Given the description of an element on the screen output the (x, y) to click on. 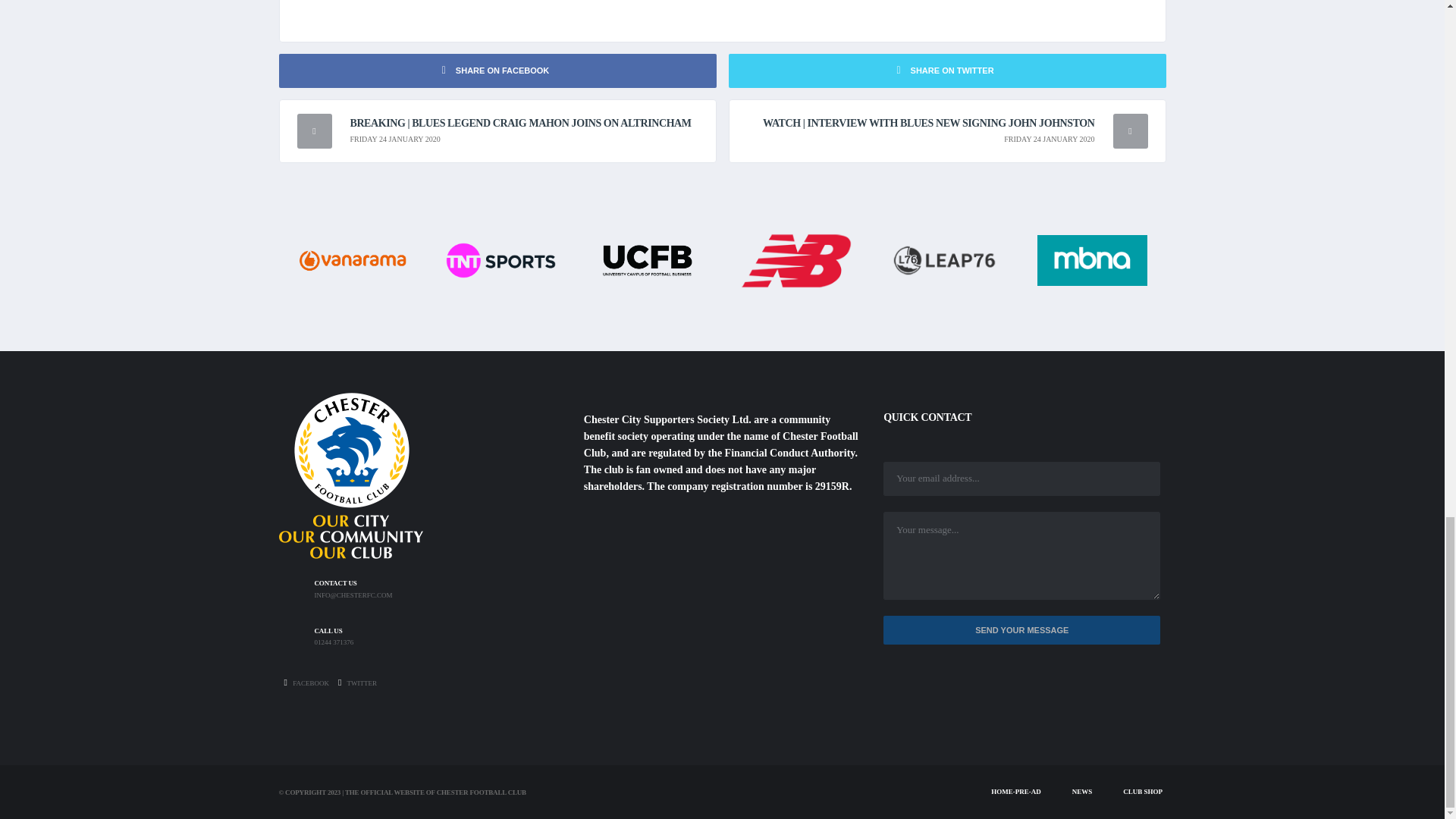
Send Your Message (1021, 630)
UCFB Logo (647, 259)
